Given the description of an element on the screen output the (x, y) to click on. 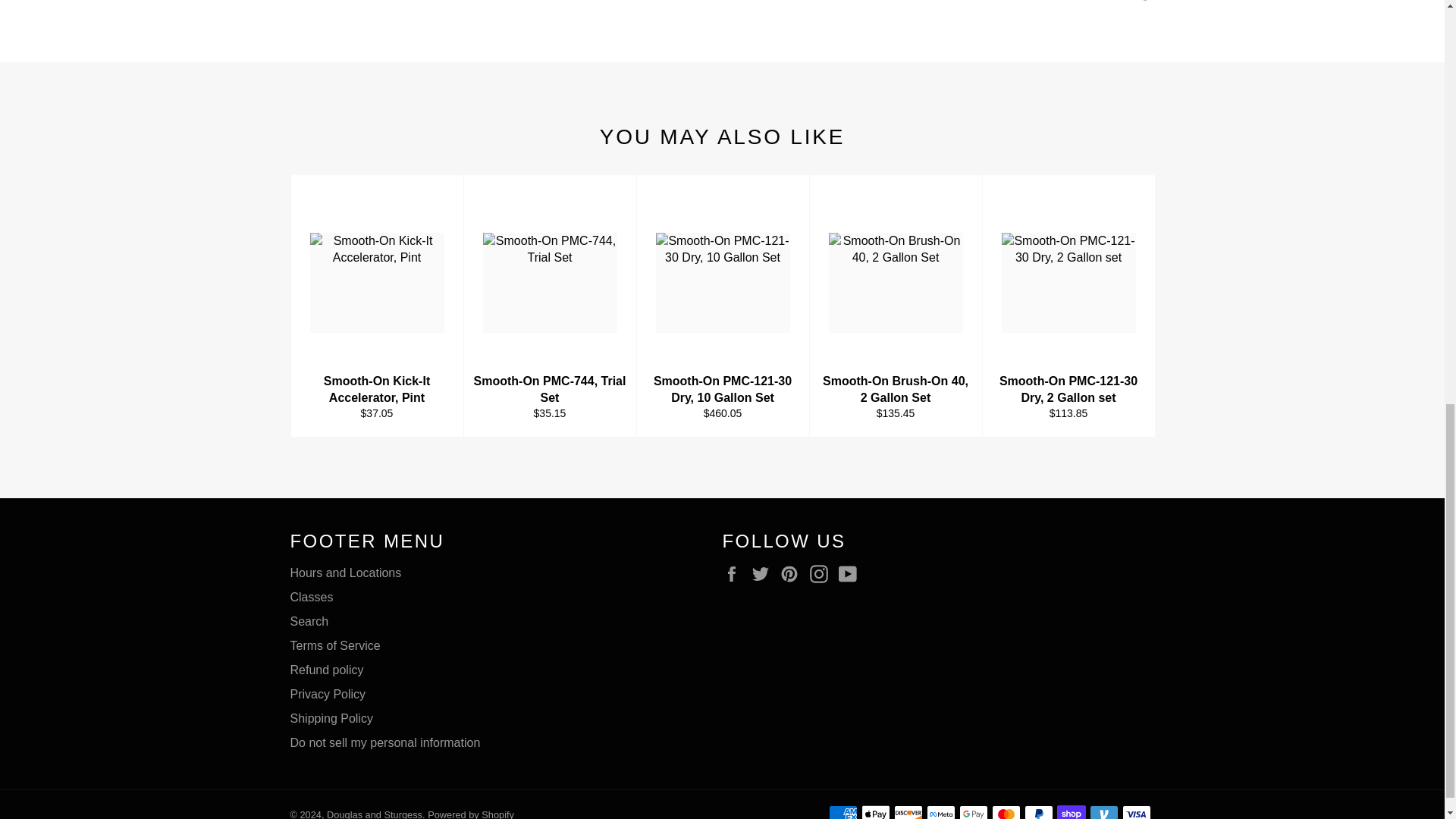
Douglas and Sturgess on Instagram (822, 574)
Douglas and Sturgess on Pinterest (793, 574)
Douglas and Sturgess on YouTube (851, 574)
Douglas and Sturgess on Facebook (735, 574)
Douglas and Sturgess on Twitter (764, 574)
